Given the description of an element on the screen output the (x, y) to click on. 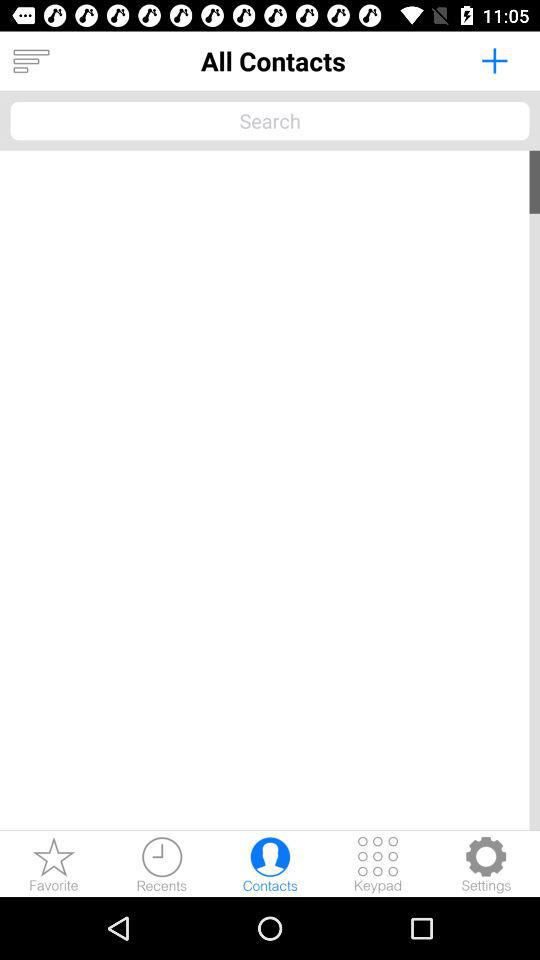
view favorite contacts (53, 864)
